Given the description of an element on the screen output the (x, y) to click on. 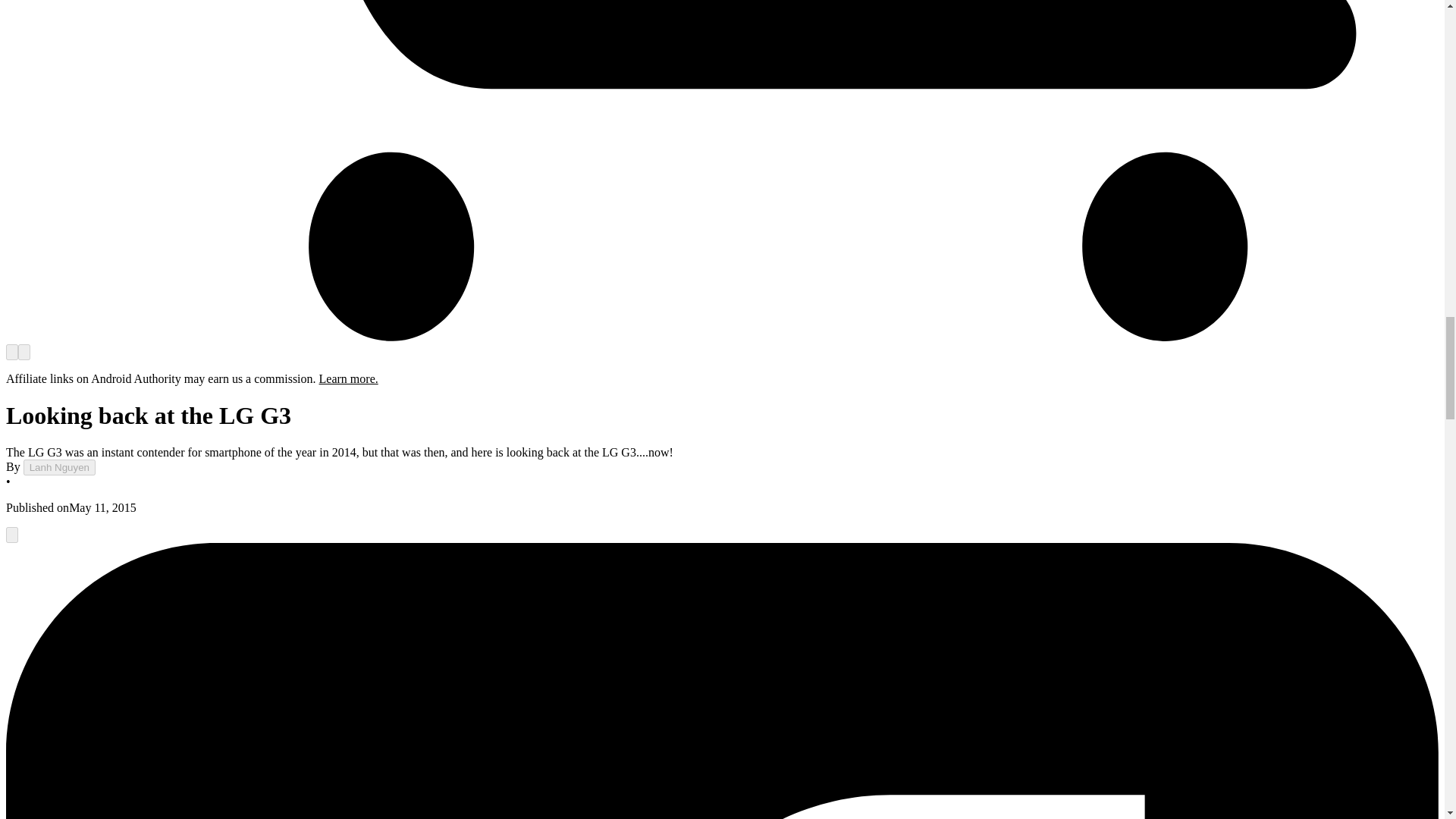
Lanh Nguyen (59, 467)
Learn more. (348, 378)
